Given the description of an element on the screen output the (x, y) to click on. 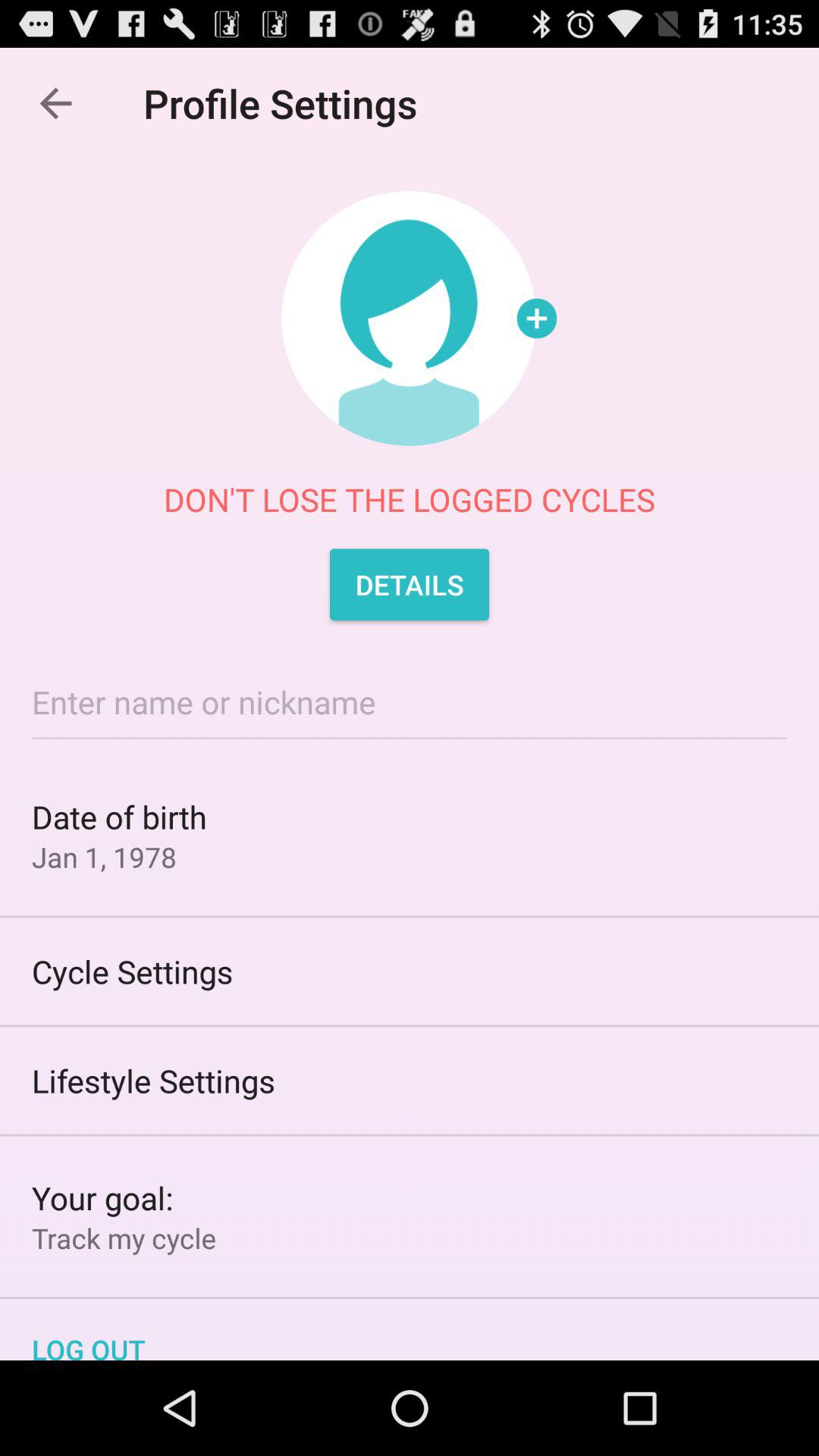
entering name or nickname for the profile (409, 701)
